Given the description of an element on the screen output the (x, y) to click on. 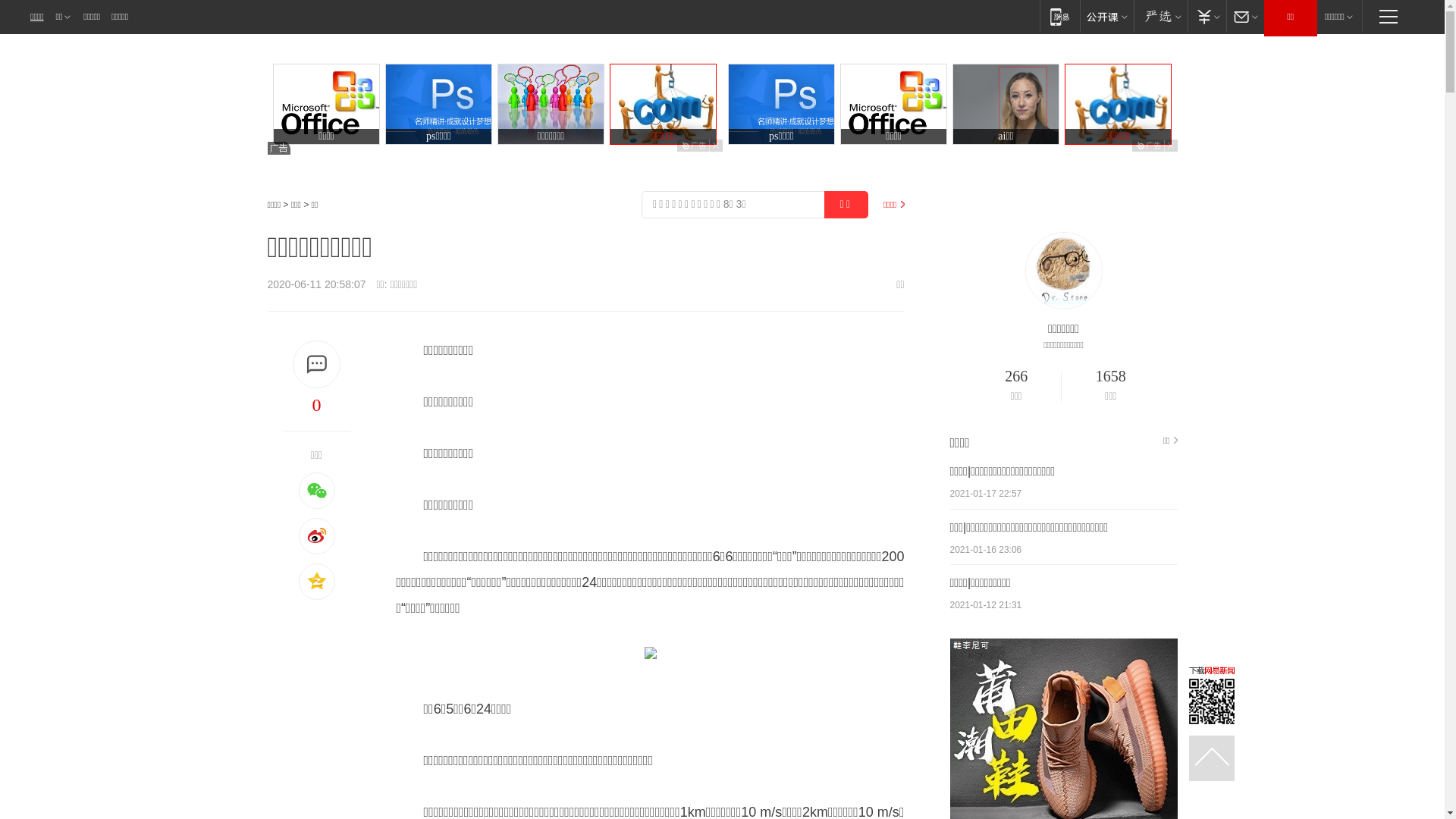
0 Element type: text (315, 404)
266 Element type: text (1015, 376)
1658 Element type: text (1110, 376)
